Given the description of an element on the screen output the (x, y) to click on. 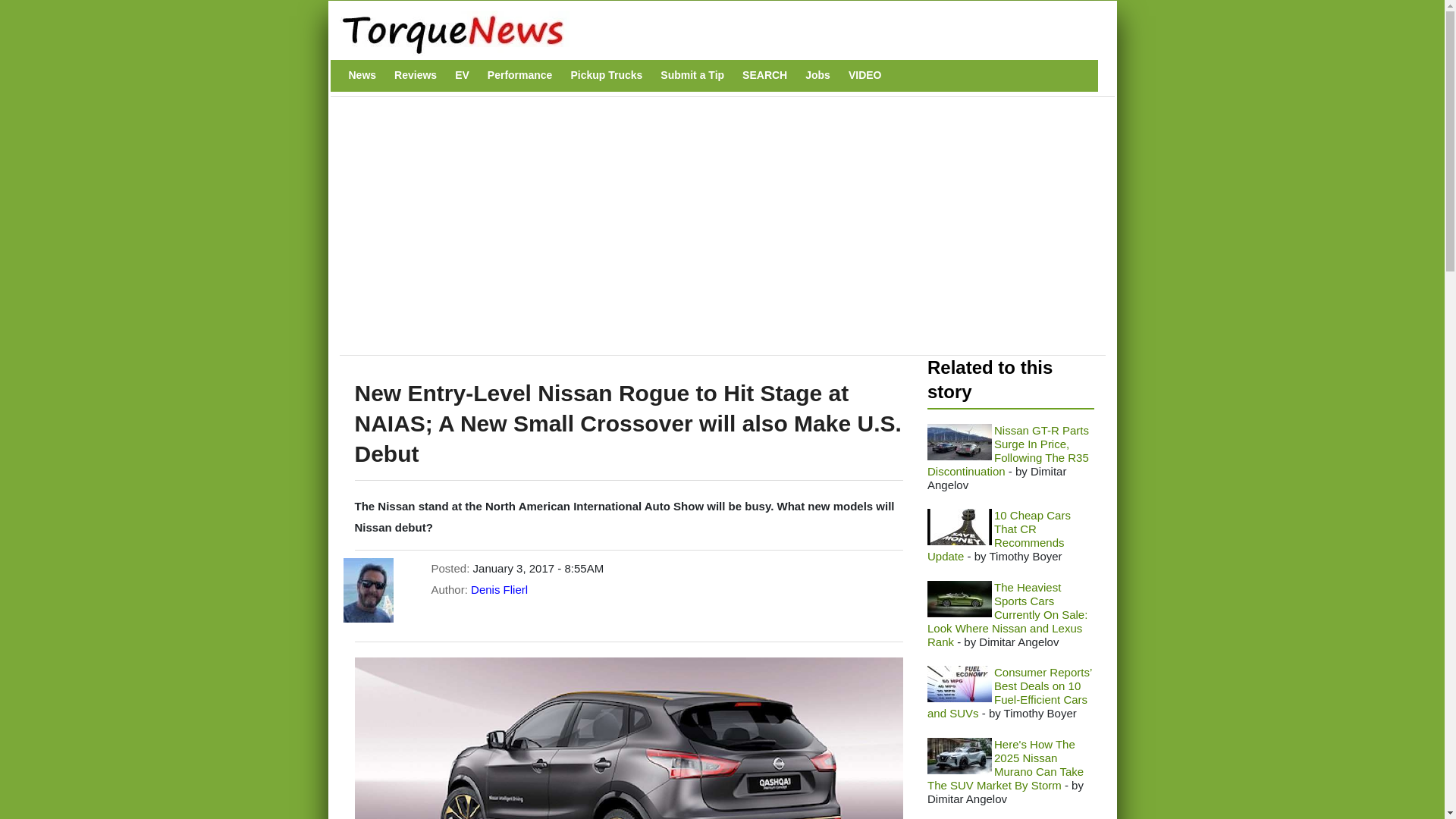
Home (713, 32)
Advertisement (624, 233)
VIDEO (865, 75)
Submit a Tip (691, 75)
News (362, 75)
Denis Flierl (498, 589)
SEARCH (764, 75)
News (362, 75)
EV (462, 75)
View user profile. (498, 589)
Reviews (415, 75)
Performance (520, 75)
Pickup Trucks (605, 75)
Jobs (817, 75)
